Given the description of an element on the screen output the (x, y) to click on. 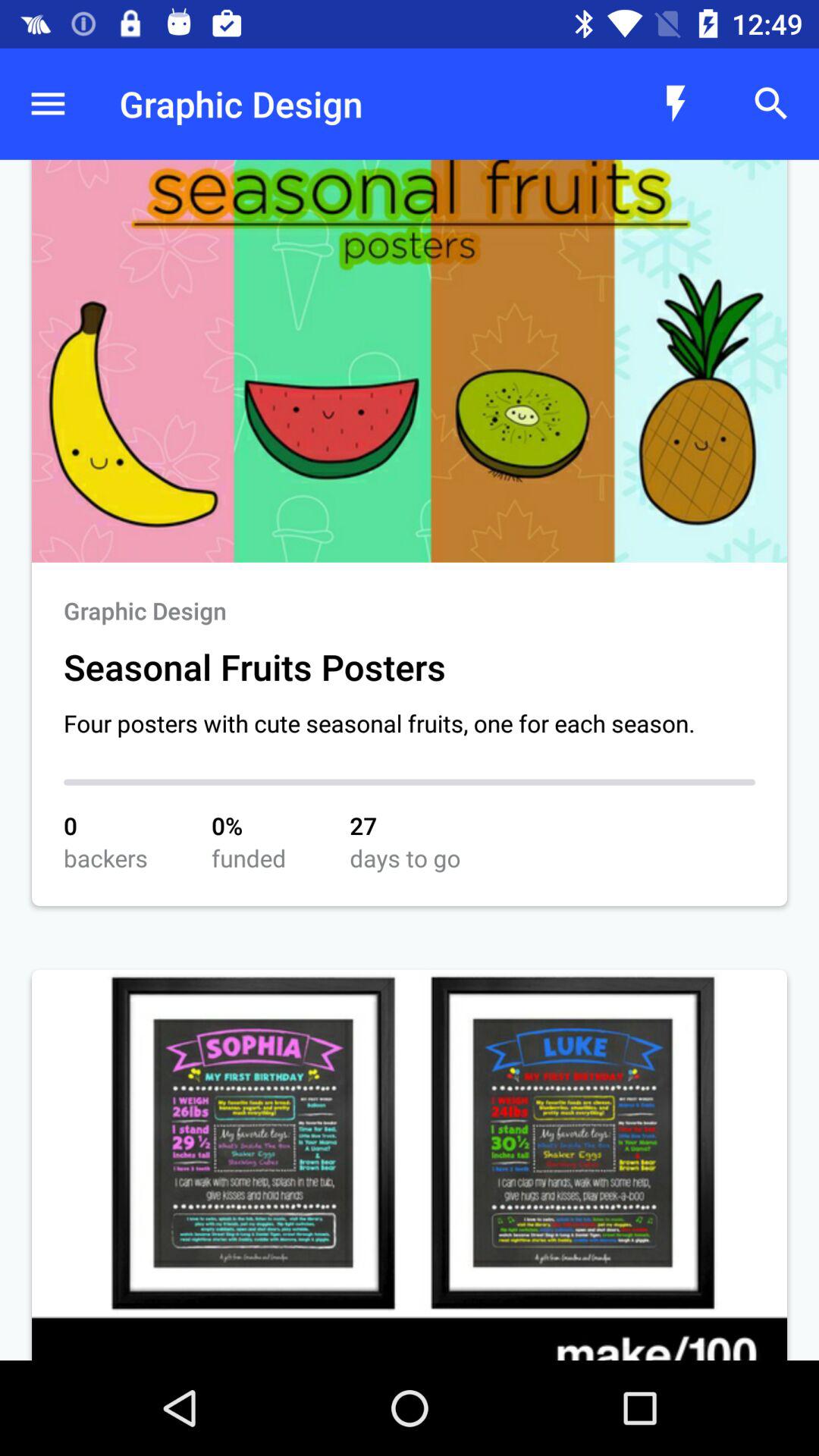
select the first image (409, 361)
select the icon which is left to search icon (675, 104)
